Given the description of an element on the screen output the (x, y) to click on. 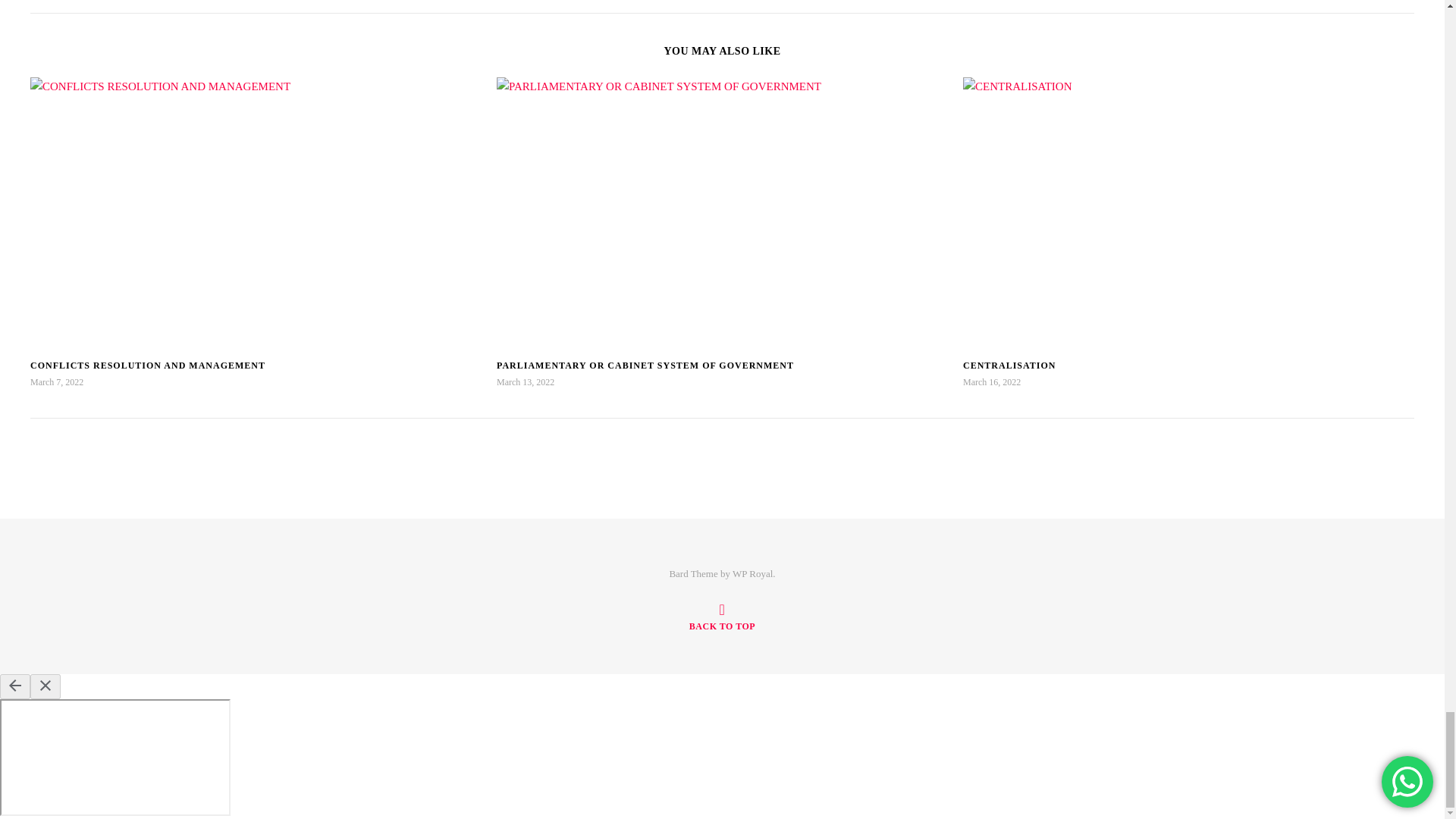
BACK TO TOP (721, 617)
